Given the description of an element on the screen output the (x, y) to click on. 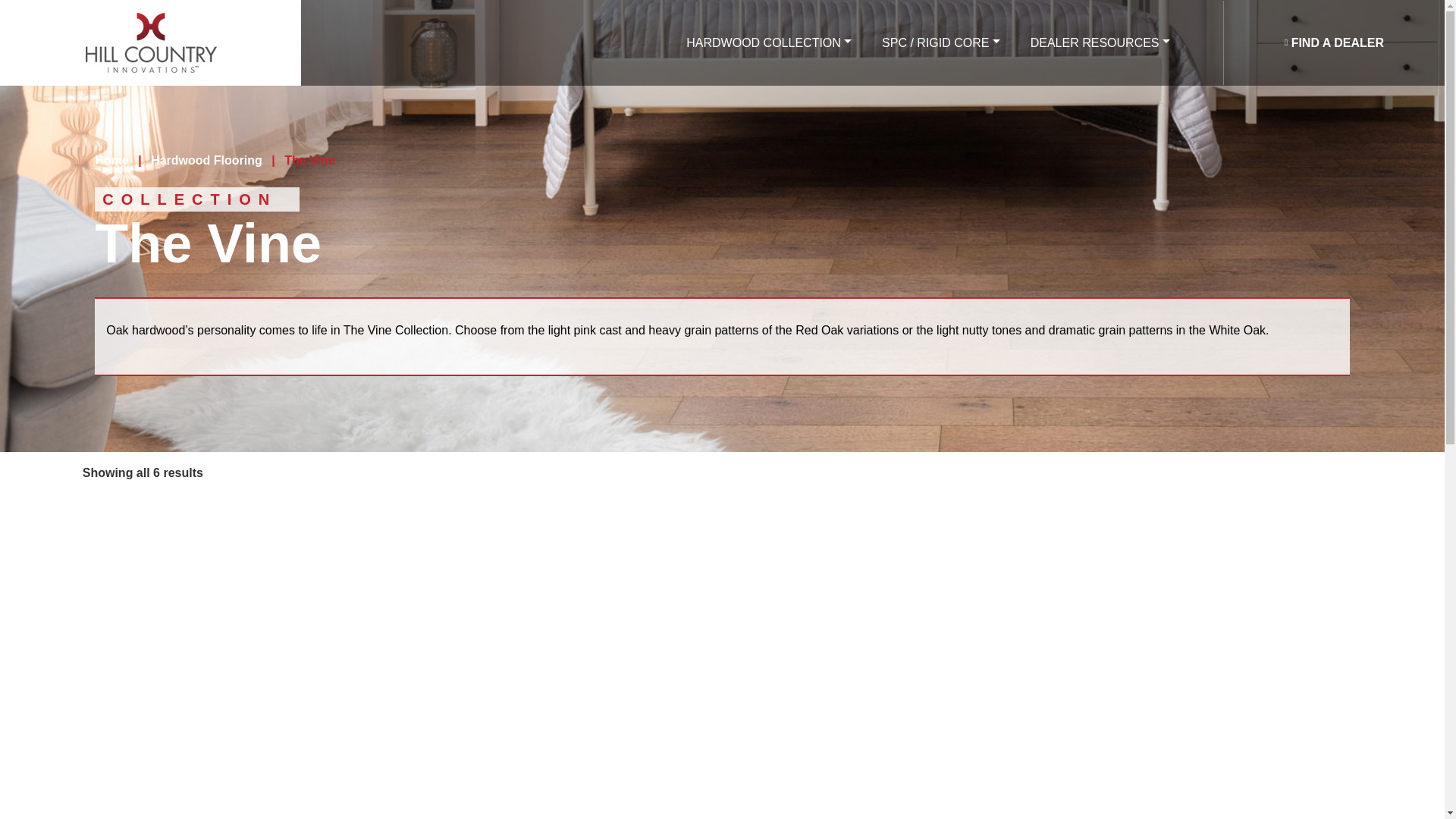
Hardwood Flooring (206, 160)
Home (111, 160)
DEALER RESOURCES (1099, 42)
HARDWOOD COLLECTION (768, 42)
Hardwood Collection (768, 42)
